Given the description of an element on the screen output the (x, y) to click on. 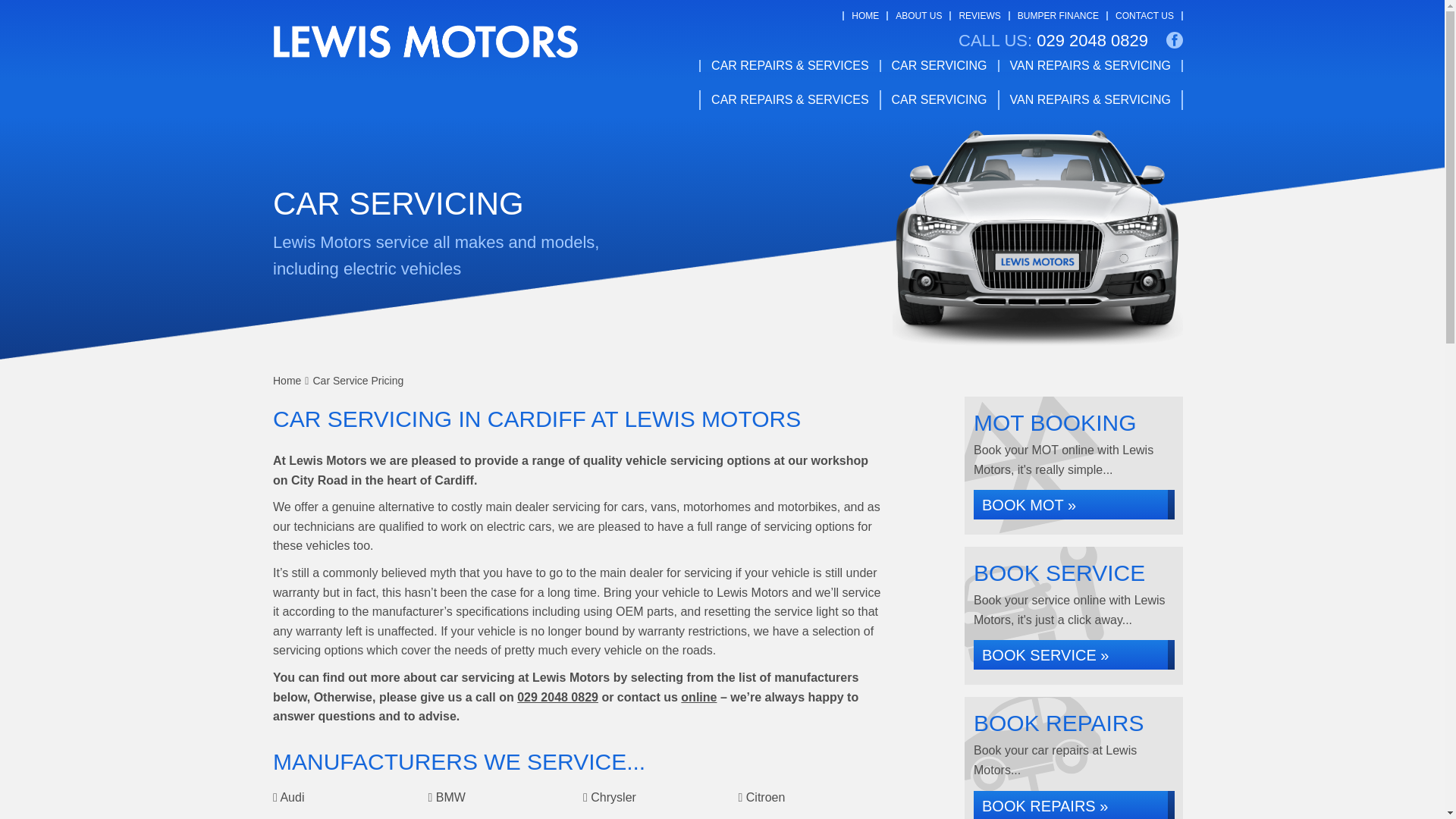
ABOUT US (918, 15)
HOME (865, 15)
BUMPER FINANCE (1058, 15)
CONTACT US (1144, 15)
REVIEWS (979, 15)
CALL US: 029 2048 0829 (1053, 40)
CAR SERVICING (939, 65)
